Given the description of an element on the screen output the (x, y) to click on. 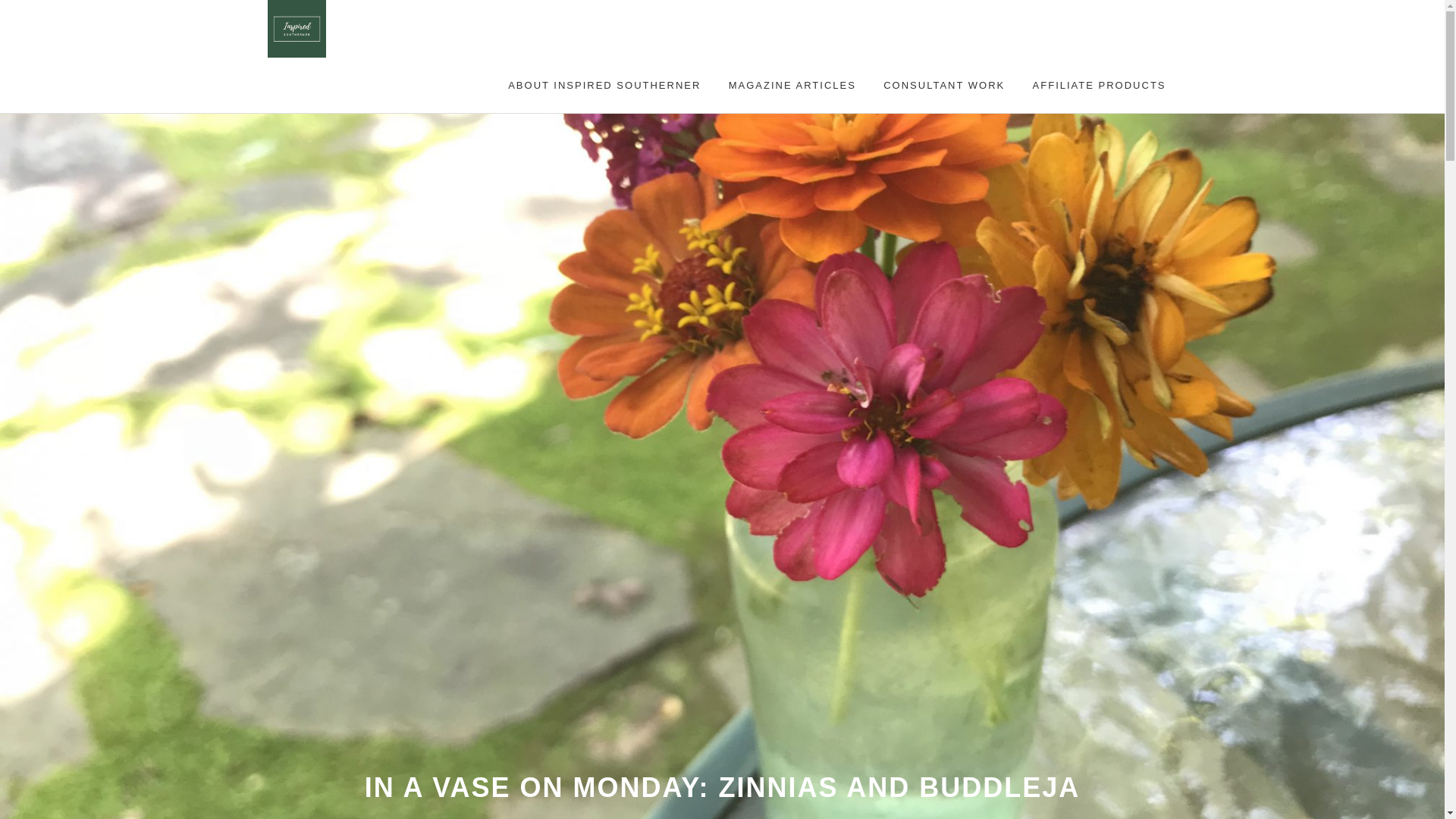
ABOUT INSPIRED SOUTHERNER (603, 85)
MAGAZINE ARTICLES (792, 85)
Inspired Southerner (403, 28)
CONSULTANT WORK (944, 85)
AFFILIATE PRODUCTS (1099, 85)
